Given the description of an element on the screen output the (x, y) to click on. 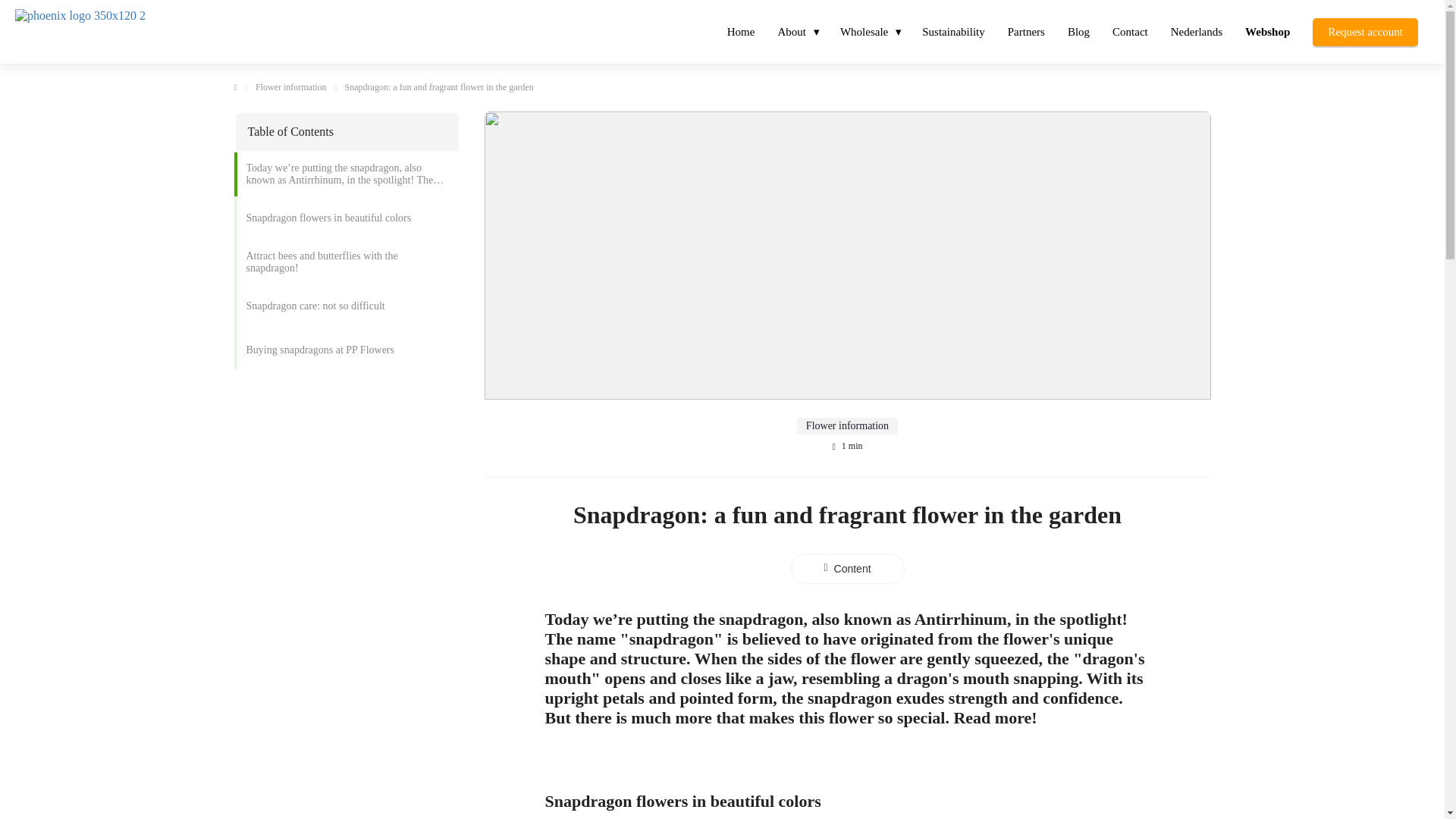
Nederlands (1195, 30)
Sustainability (953, 30)
Webshop (1267, 30)
Home (741, 30)
Partners (1026, 30)
Blog (1078, 30)
Request account (1365, 30)
Logo (147, 30)
Snapdragon: a fun and fragrant flower in the garden (439, 87)
Contact (1129, 30)
Flower information (291, 87)
